Given the description of an element on the screen output the (x, y) to click on. 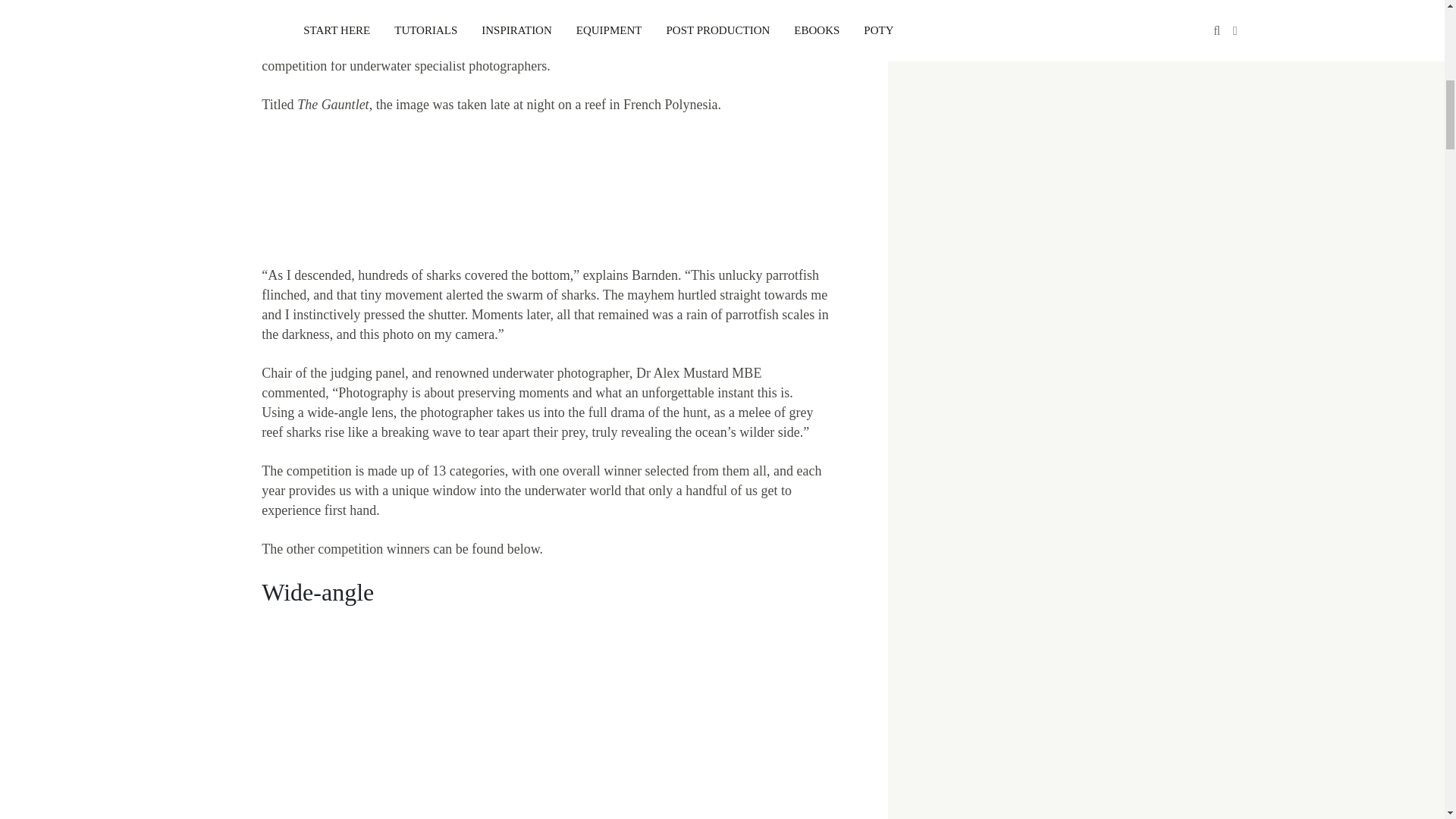
Download So You Want to Be a Wildlife Photographer? (545, 190)
